Given the description of an element on the screen output the (x, y) to click on. 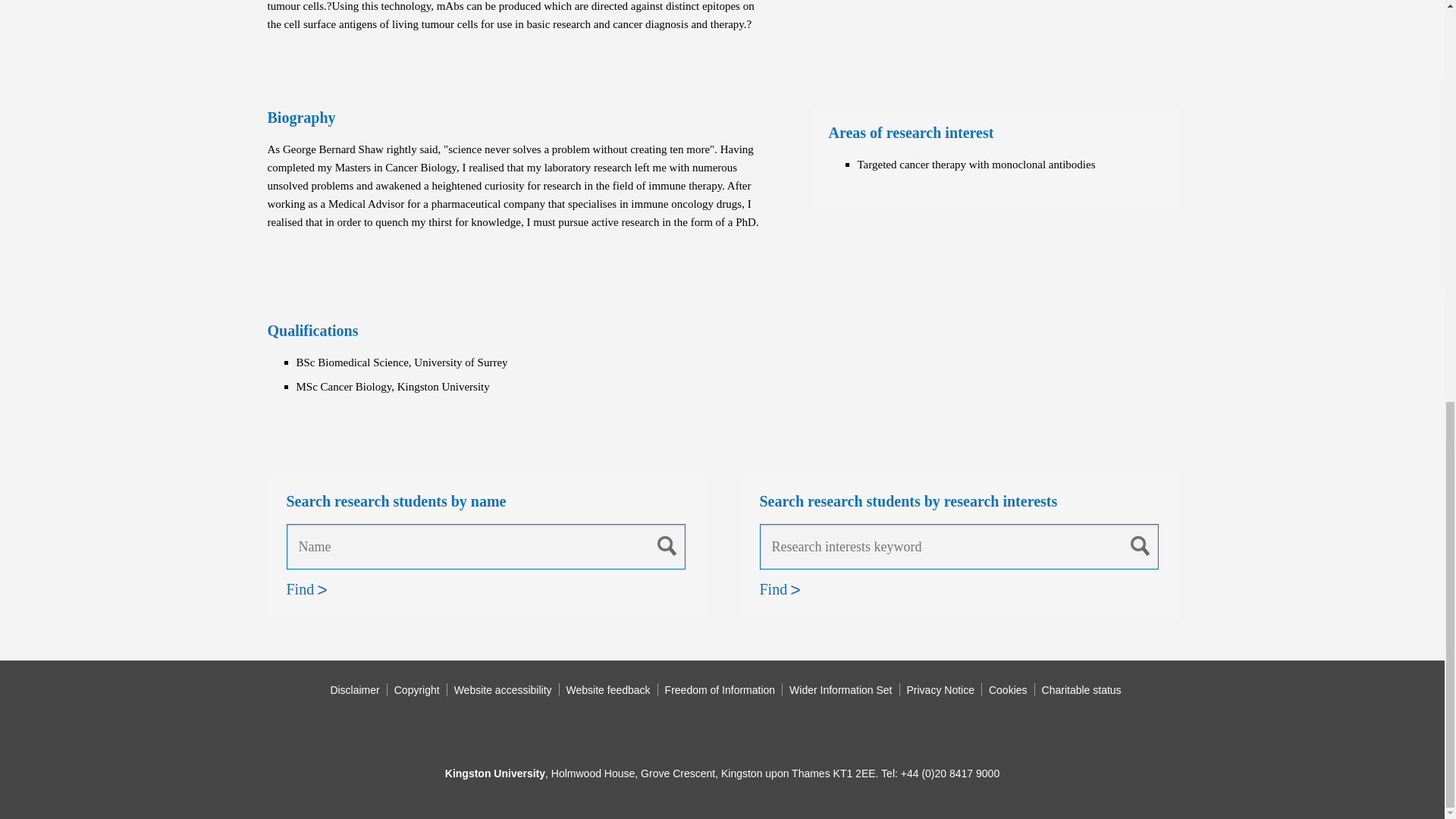
Find (773, 589)
Find (300, 589)
Search (667, 544)
Search (1140, 544)
